Given the description of an element on the screen output the (x, y) to click on. 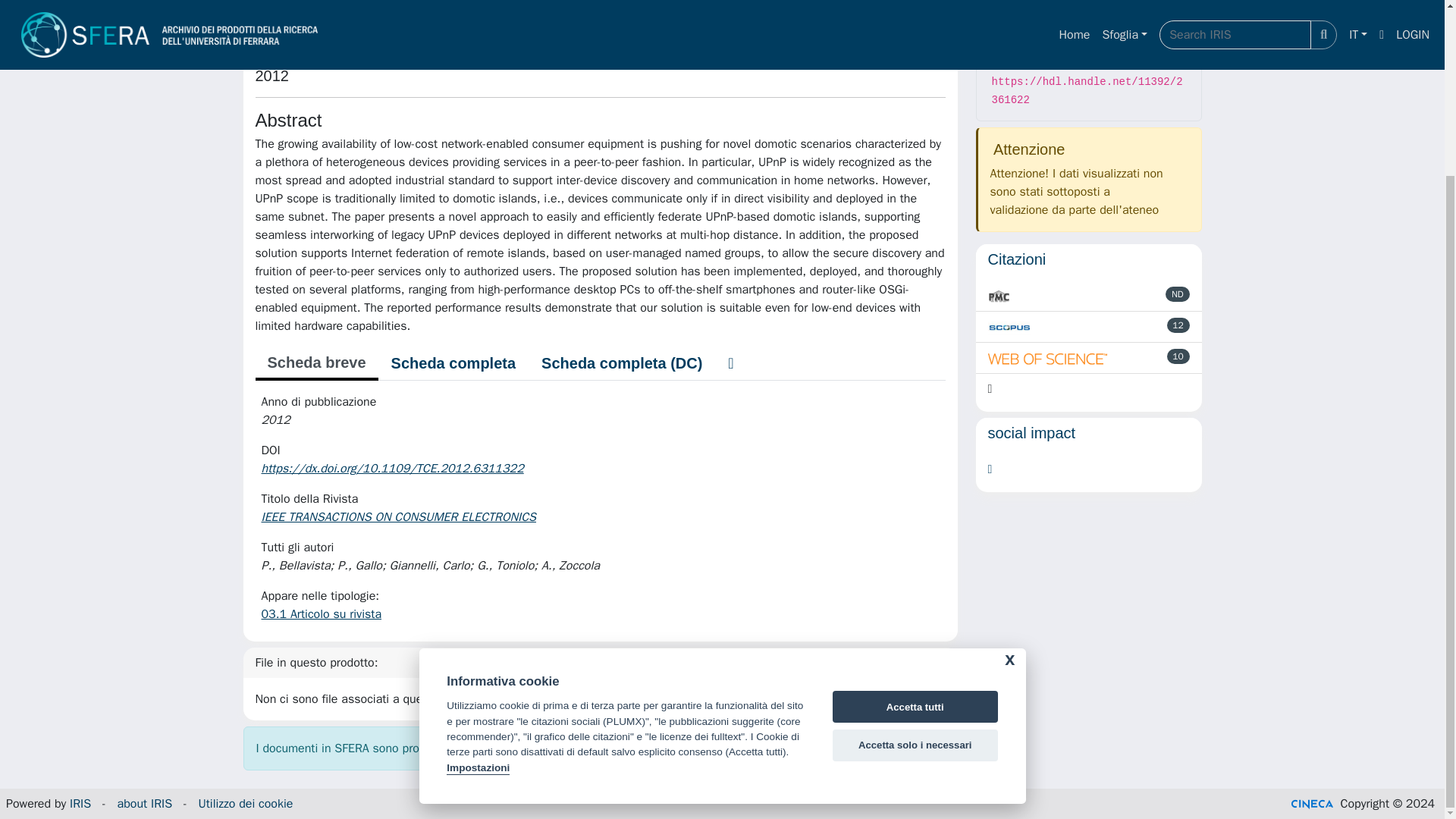
03.1 Articolo su rivista (320, 613)
Scheda completa (453, 363)
aggiornato in data 10-07-2024 17:43 (1178, 324)
Scheda breve (315, 363)
 Informazioni (1088, 2)
GIANNELLI, Carlo (319, 44)
IEEE TRANSACTIONS ON CONSUMER ELECTRONICS (399, 516)
